Given the description of an element on the screen output the (x, y) to click on. 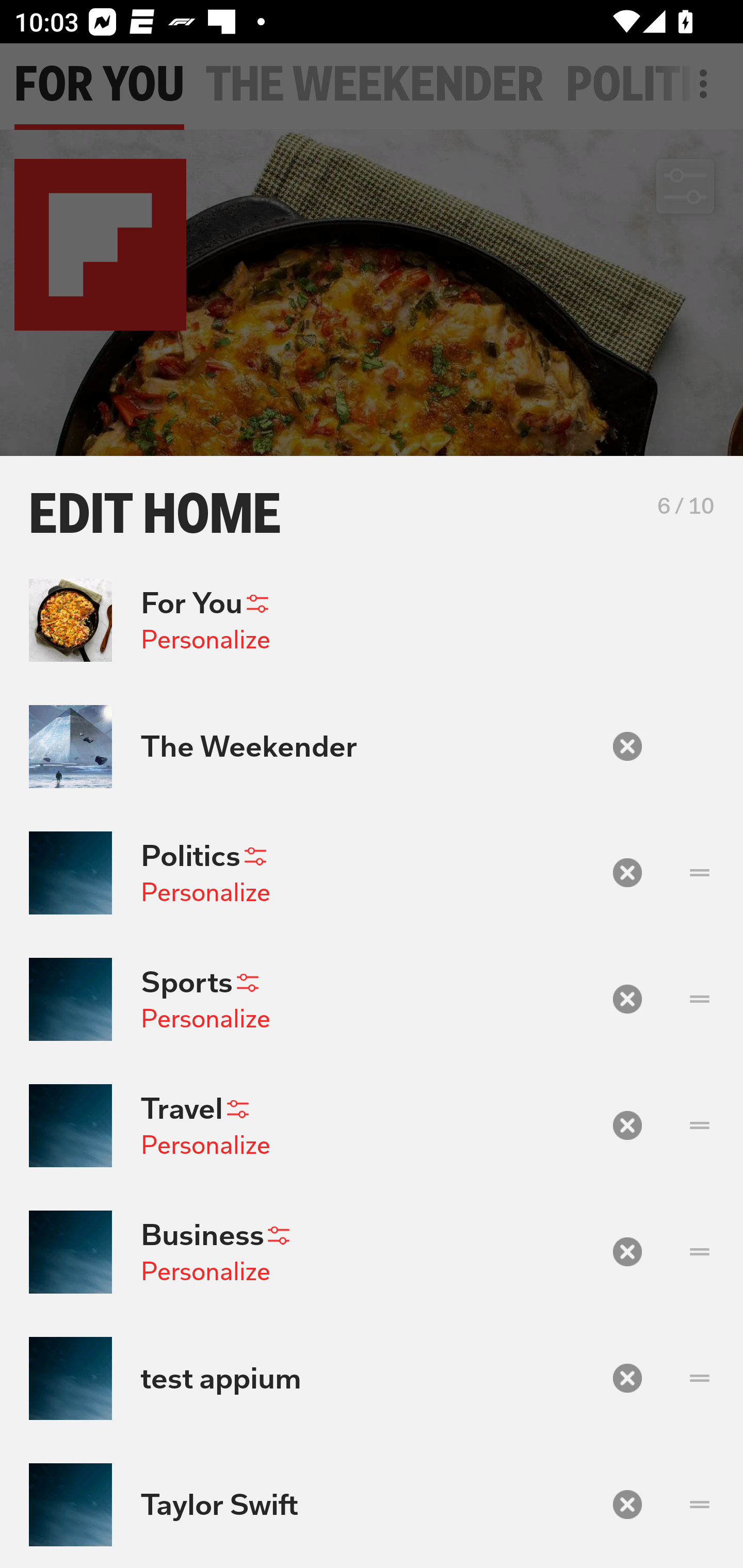
Personalize (205, 639)
Personalize (205, 891)
Personalize (205, 1018)
Personalize (205, 1144)
Personalize (205, 1271)
